Given the description of an element on the screen output the (x, y) to click on. 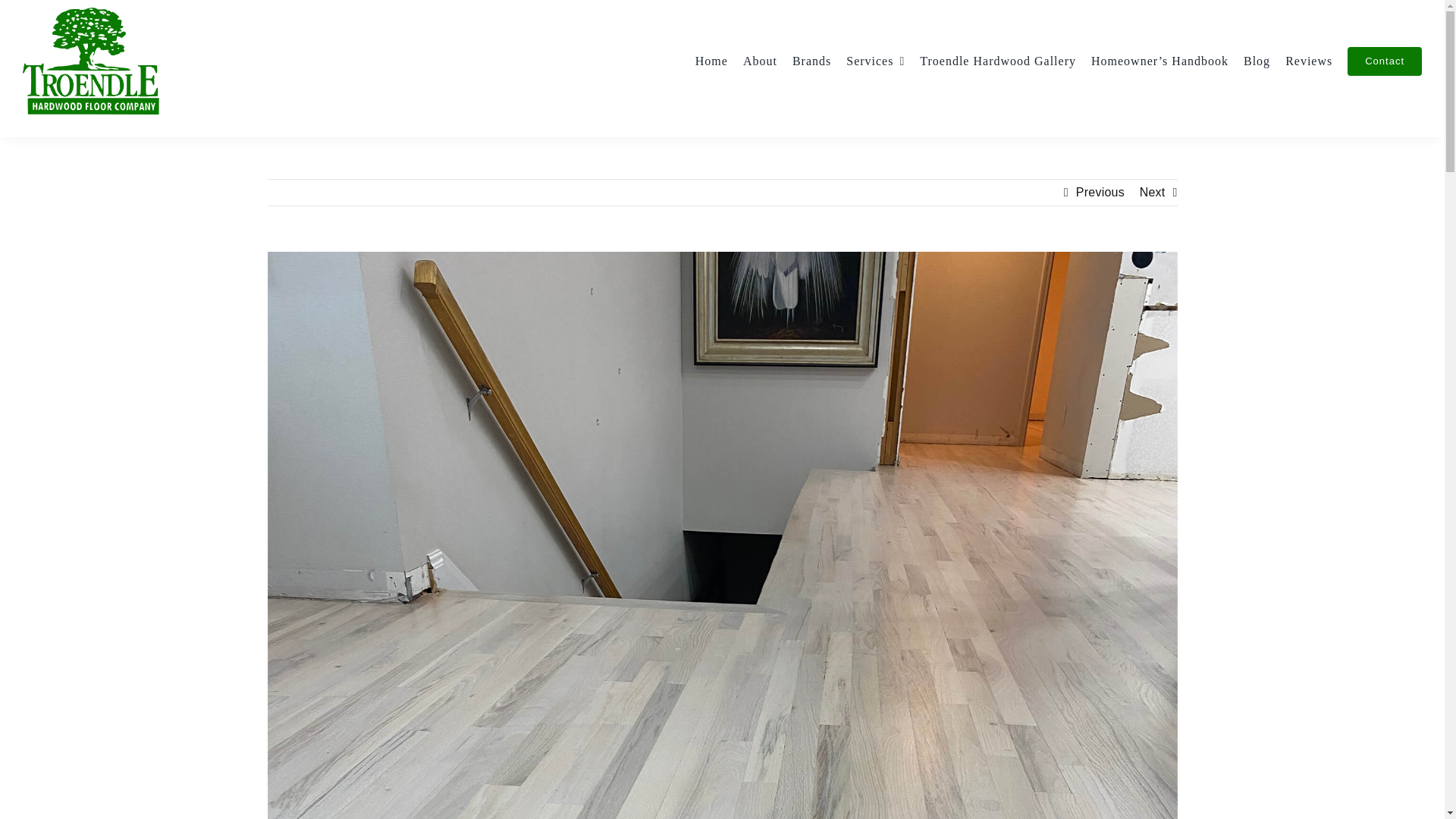
Reviews (1308, 60)
Previous (1099, 192)
Home (711, 60)
Next (1153, 192)
Services (874, 60)
Troendle Hardwood Gallery (997, 60)
Brands (811, 60)
Contact (1385, 60)
Blog (1256, 60)
About (759, 60)
